Given the description of an element on the screen output the (x, y) to click on. 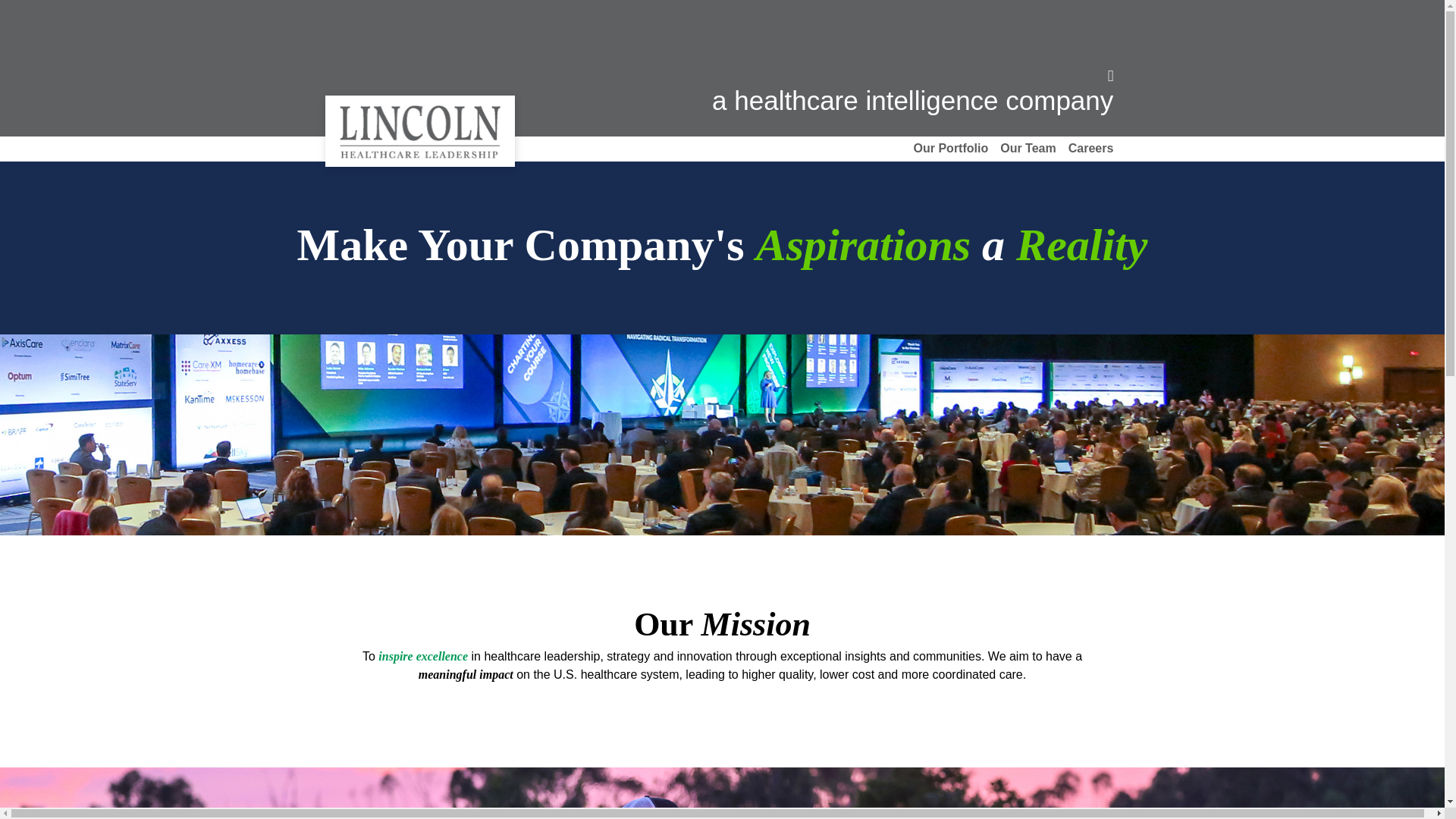
Careers (1090, 148)
Our Team (1028, 148)
Our Portfolio (950, 148)
